Given the description of an element on the screen output the (x, y) to click on. 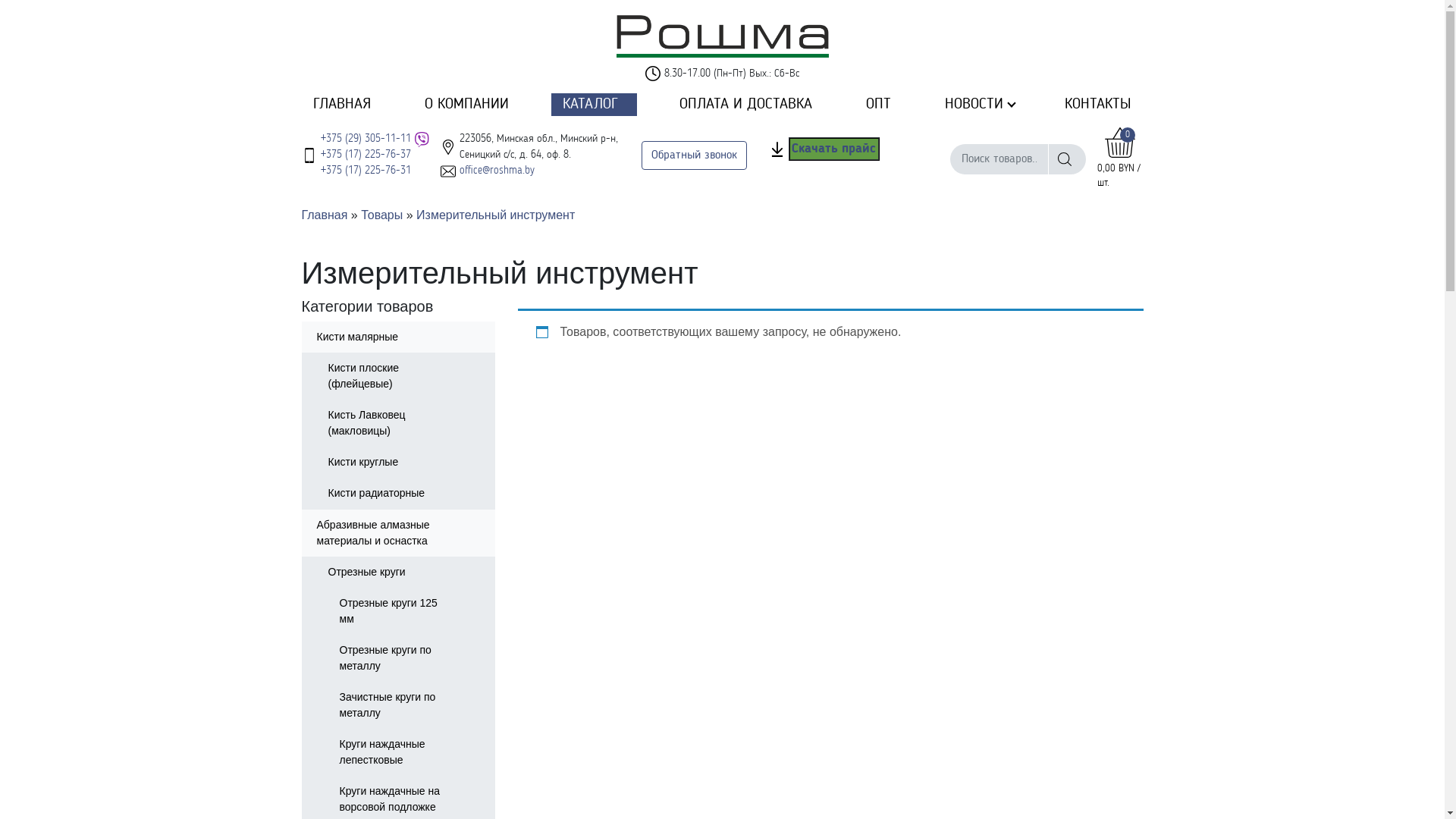
+375 (17) 225-76-31 Element type: text (365, 170)
+375 (29) 305-11-11 Element type: text (365, 138)
office@roshma.by Element type: text (496, 170)
+375 (17) 225-76-37 Element type: text (365, 154)
